Given the description of an element on the screen output the (x, y) to click on. 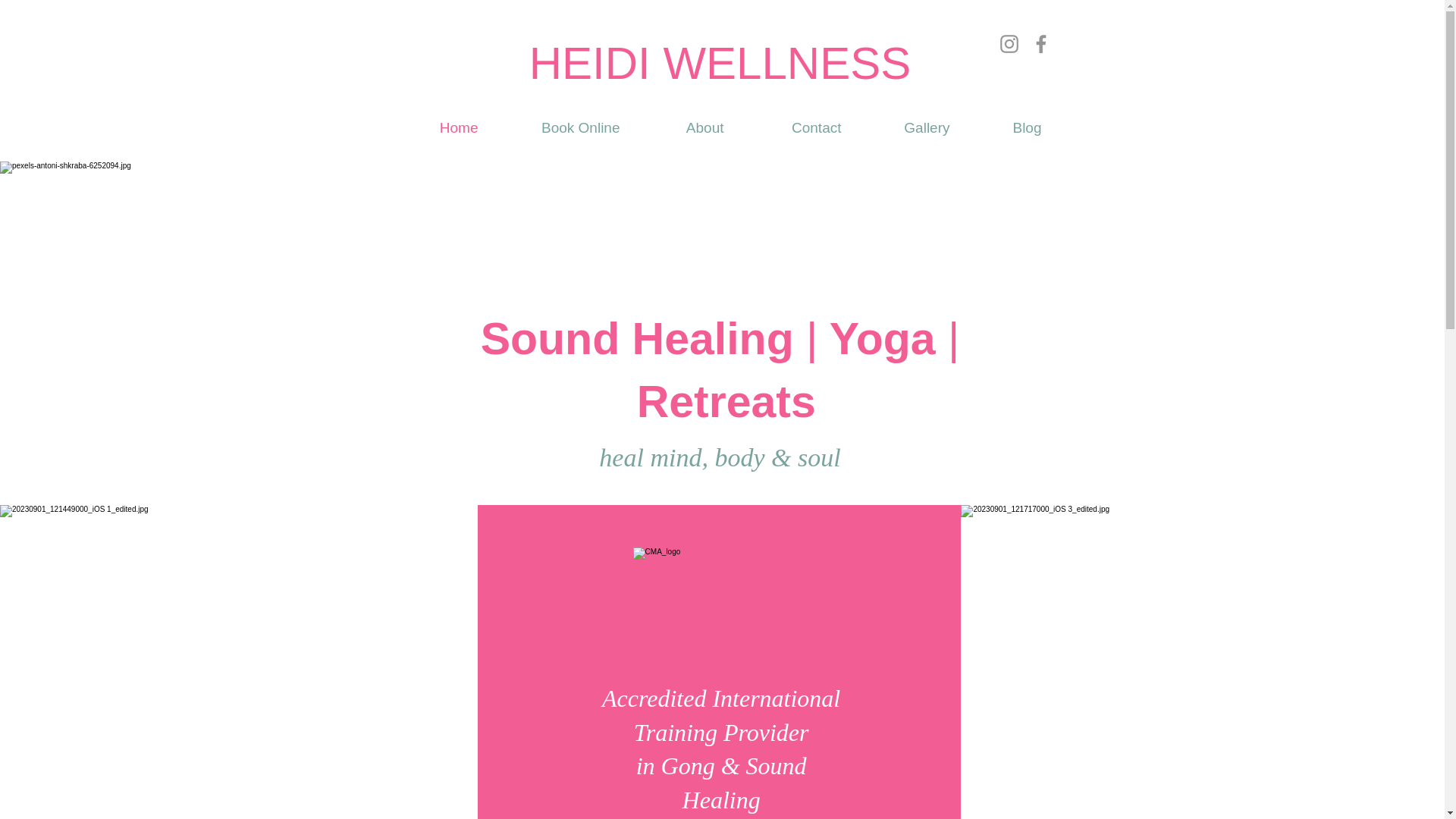
Sound Healing (643, 338)
About (682, 127)
 Retreats (719, 401)
HEIDI WELLNESS (720, 62)
 Yoga (881, 338)
Gallery (905, 127)
Book Online (560, 127)
Home (438, 127)
Contact (794, 127)
Blog (1006, 127)
